Given the description of an element on the screen output the (x, y) to click on. 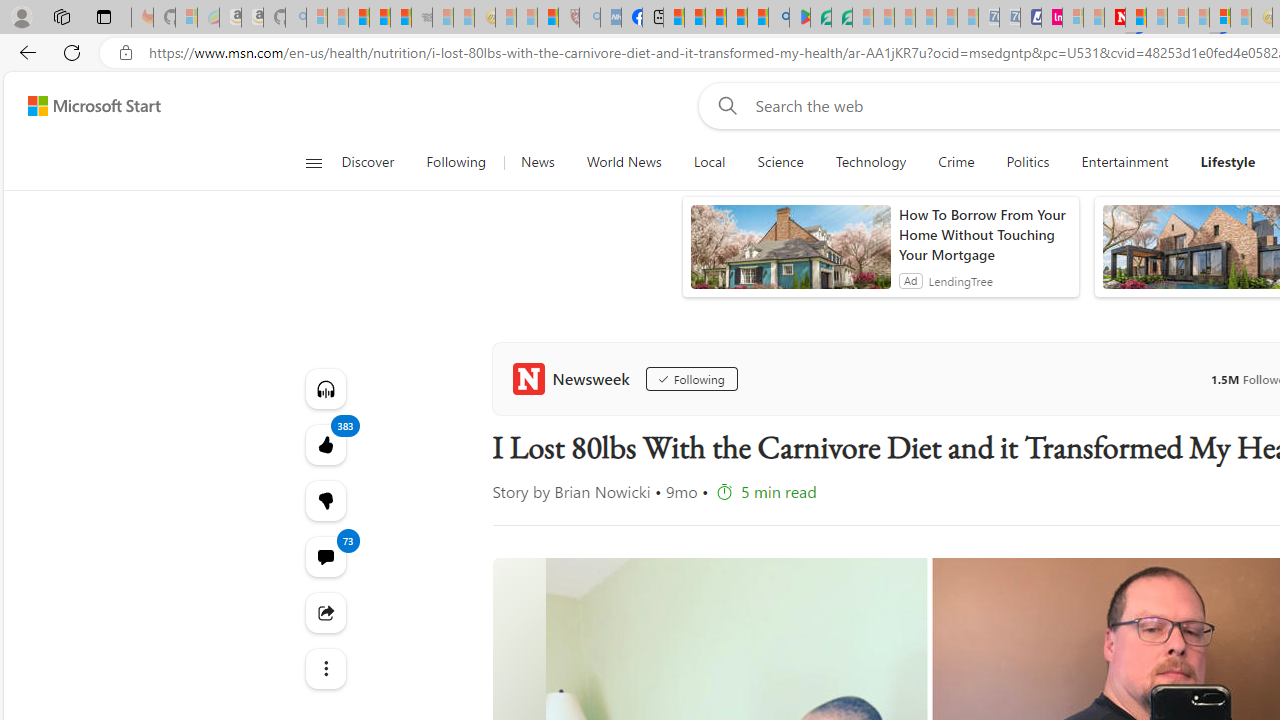
The Weather Channel - MSN (358, 17)
Combat Siege (422, 17)
View site information (125, 53)
Cheap Hotels - Save70.com - Sleeping (1009, 17)
Newsweek (574, 378)
Discover (375, 162)
New tab (652, 17)
Following (456, 162)
News (537, 162)
NCL Adult Asthma Inhaler Choice Guideline - Sleeping (610, 17)
Personal Profile (21, 16)
Cheap Car Rentals - Save70.com - Sleeping (989, 17)
